Given the description of an element on the screen output the (x, y) to click on. 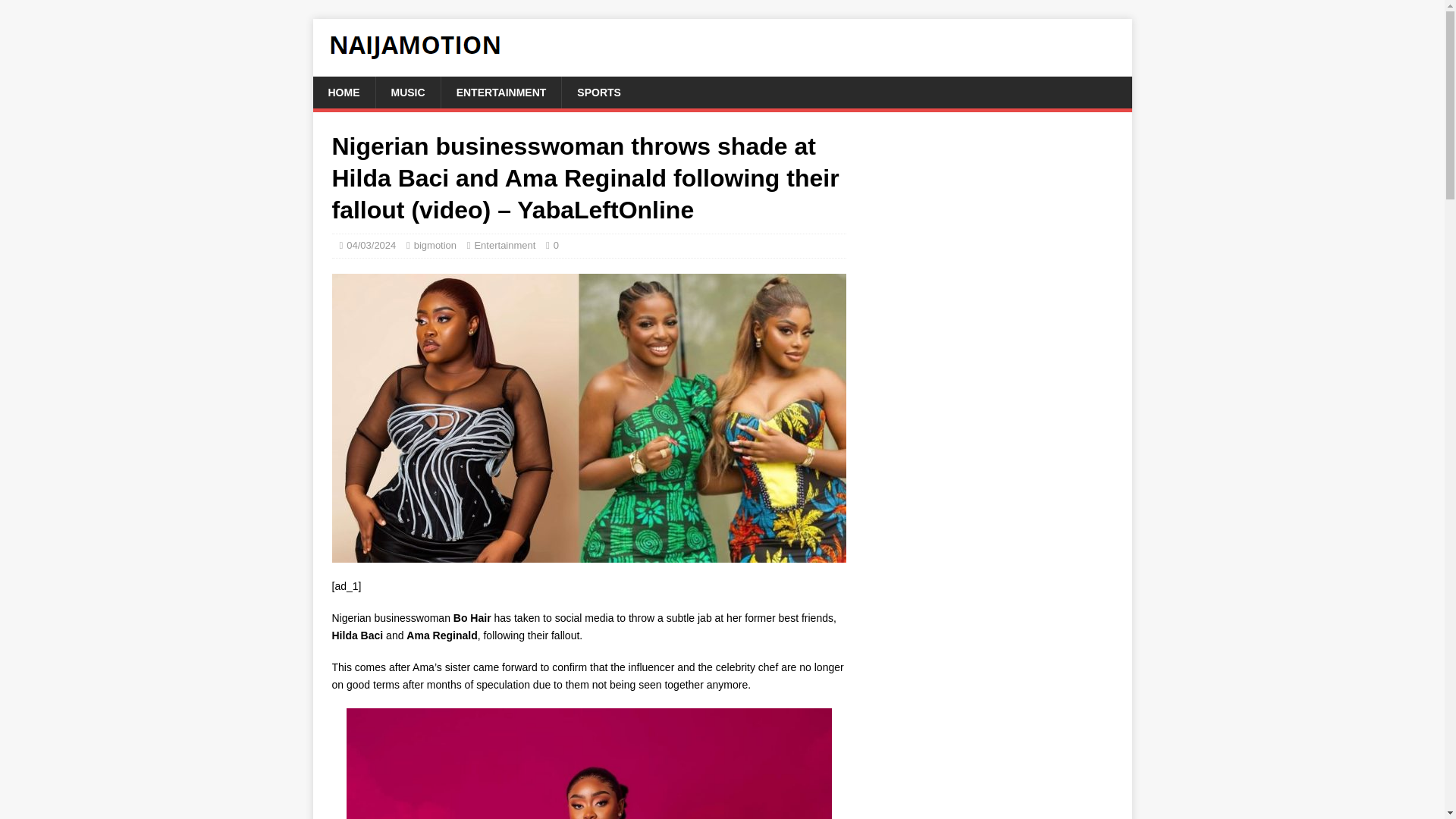
HOME (343, 92)
bigmotion (435, 244)
0 (556, 244)
Entertainment (504, 244)
ENTERTAINMENT (501, 92)
0 (556, 244)
MUSIC (406, 92)
SPORTS (598, 92)
